Given the description of an element on the screen output the (x, y) to click on. 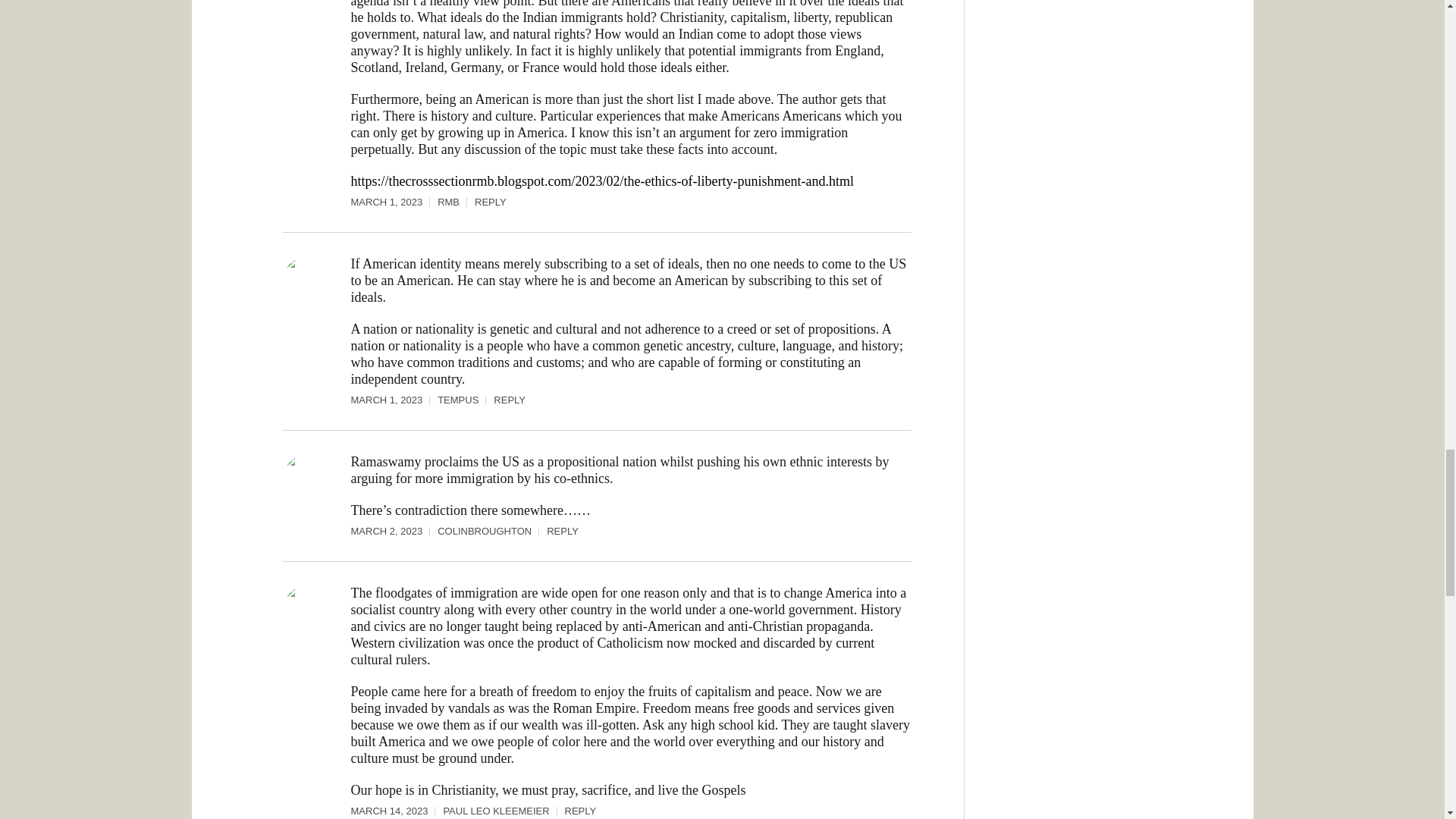
March 14, 2023 (396, 811)
March 1, 2023 (394, 202)
March 2, 2023 (394, 531)
REPLY (562, 531)
March 1, 2023 (394, 400)
REPLY (509, 400)
REPLY (580, 811)
REPLY (490, 202)
